Given the description of an element on the screen output the (x, y) to click on. 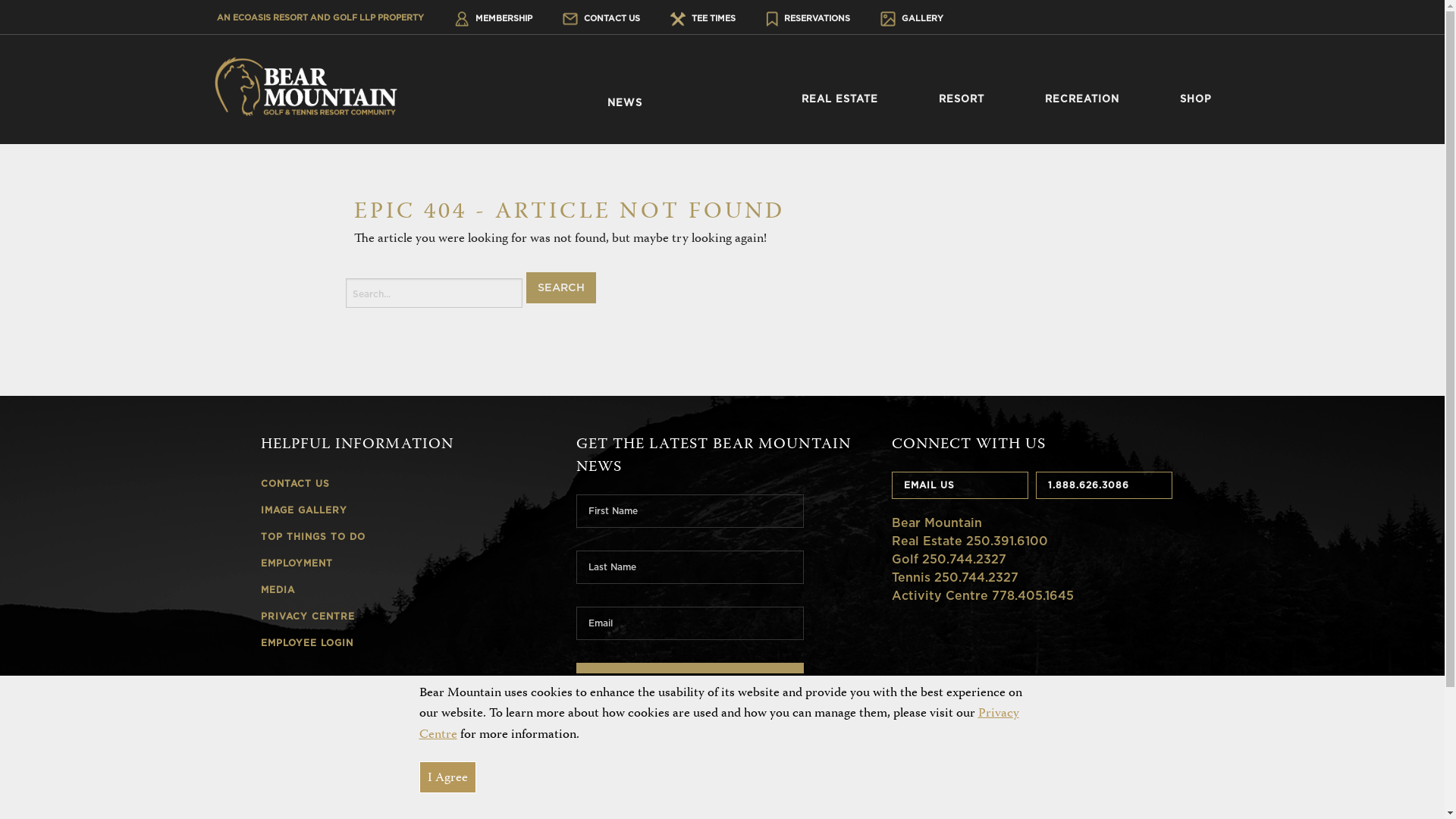
Contact Us Element type: hover (569, 18)
Search for: Element type: hover (433, 292)
Search Element type: text (561, 287)
Members Element type: hover (461, 18)
Tee Times Element type: hover (677, 18)
Subscribe Element type: text (689, 679)
TOP THINGS TO DO Element type: text (406, 533)
TEE TIMES Element type: text (702, 17)
RESERVATIONS Element type: text (807, 17)
MEMBERSHIP Element type: text (493, 17)
I Agree Element type: text (446, 777)
EMPLOYMENT Element type: text (406, 560)
PRIVACY CENTRE Element type: text (406, 613)
Bear Mountain Element type: hover (305, 86)
CONTACT US Element type: text (406, 480)
Privacy Policy Element type: text (1002, 765)
Gallery Element type: hover (886, 18)
IMAGE GALLERY Element type: text (406, 507)
GALLERY Element type: text (910, 17)
CONTACT US Element type: text (601, 17)
Reservations Element type: hover (771, 18)
EMPLOYEE LOGIN Element type: text (406, 639)
MEDIA Element type: text (406, 586)
Privacy Centre Element type: text (718, 723)
